Given the description of an element on the screen output the (x, y) to click on. 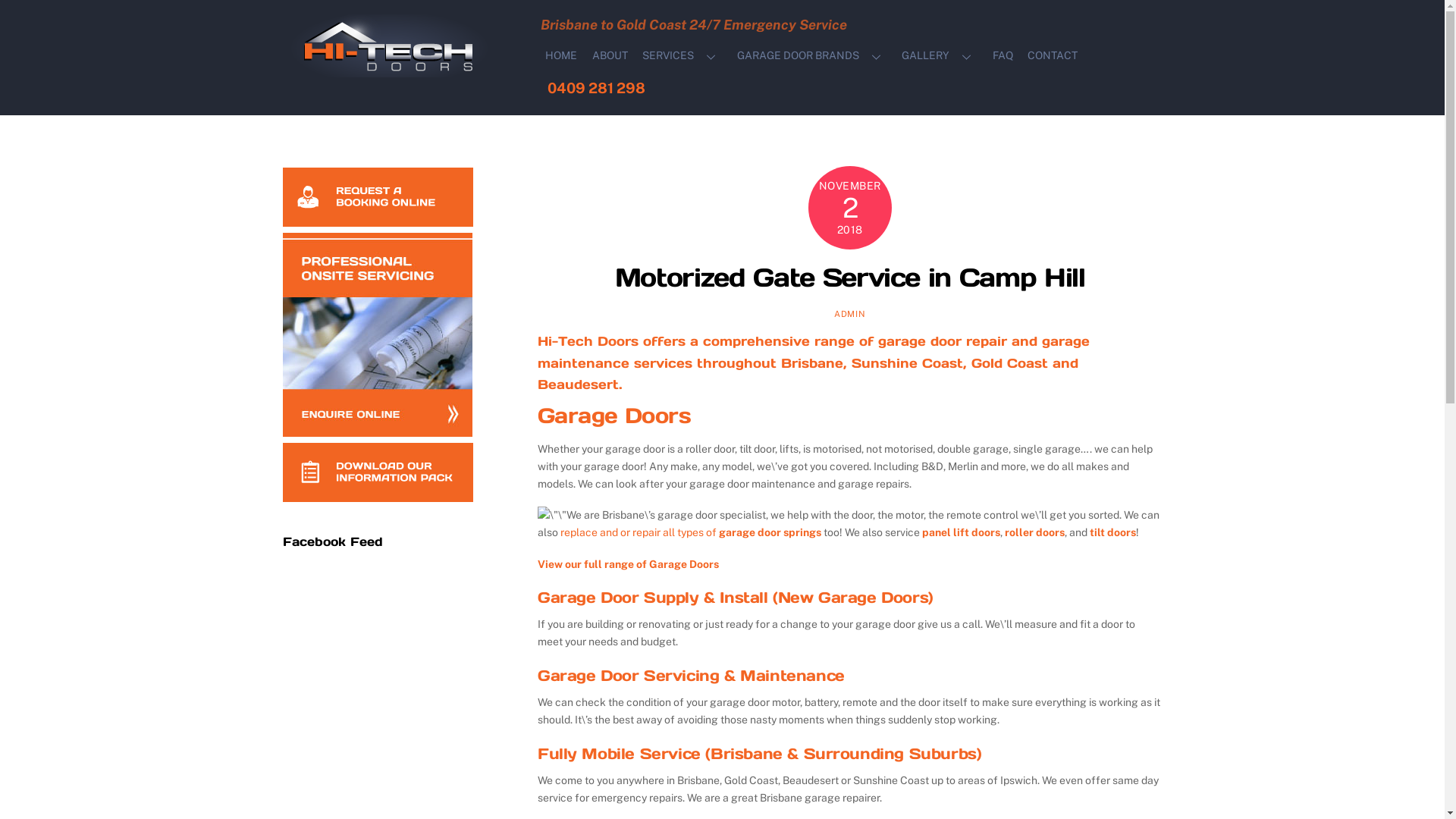
0409 281 298 Element type: text (595, 88)
roller doors Element type: text (1034, 532)
GARAGE DOOR BRANDS Element type: text (811, 55)
panel lift doors Element type: text (961, 532)
Garage Door Servicing & Maintenance Element type: text (690, 675)
GALLERY Element type: text (939, 55)
Motorized Gate Service in Camp Hill Element type: text (850, 277)
HOME Element type: text (560, 55)
View our full range of Garage Doors Element type: text (627, 564)
SERVICES Element type: text (682, 55)
logo-hitech Element type: hover (394, 45)
tilt doors Element type: text (1112, 532)
ADMIN Element type: text (849, 312)
replace and or repair all types of garage door springs Element type: text (690, 532)
Garage Door Supply & Install (New Garage Doors) Element type: text (735, 597)
Fully Mobile Service (Brisbane & Surrounding Suburbs) Element type: text (759, 753)
CONTACT Element type: text (1052, 55)
ABOUT Element type: text (609, 55)
FAQ Element type: text (1002, 55)
Garage Doors Element type: text (613, 415)
